Given the description of an element on the screen output the (x, y) to click on. 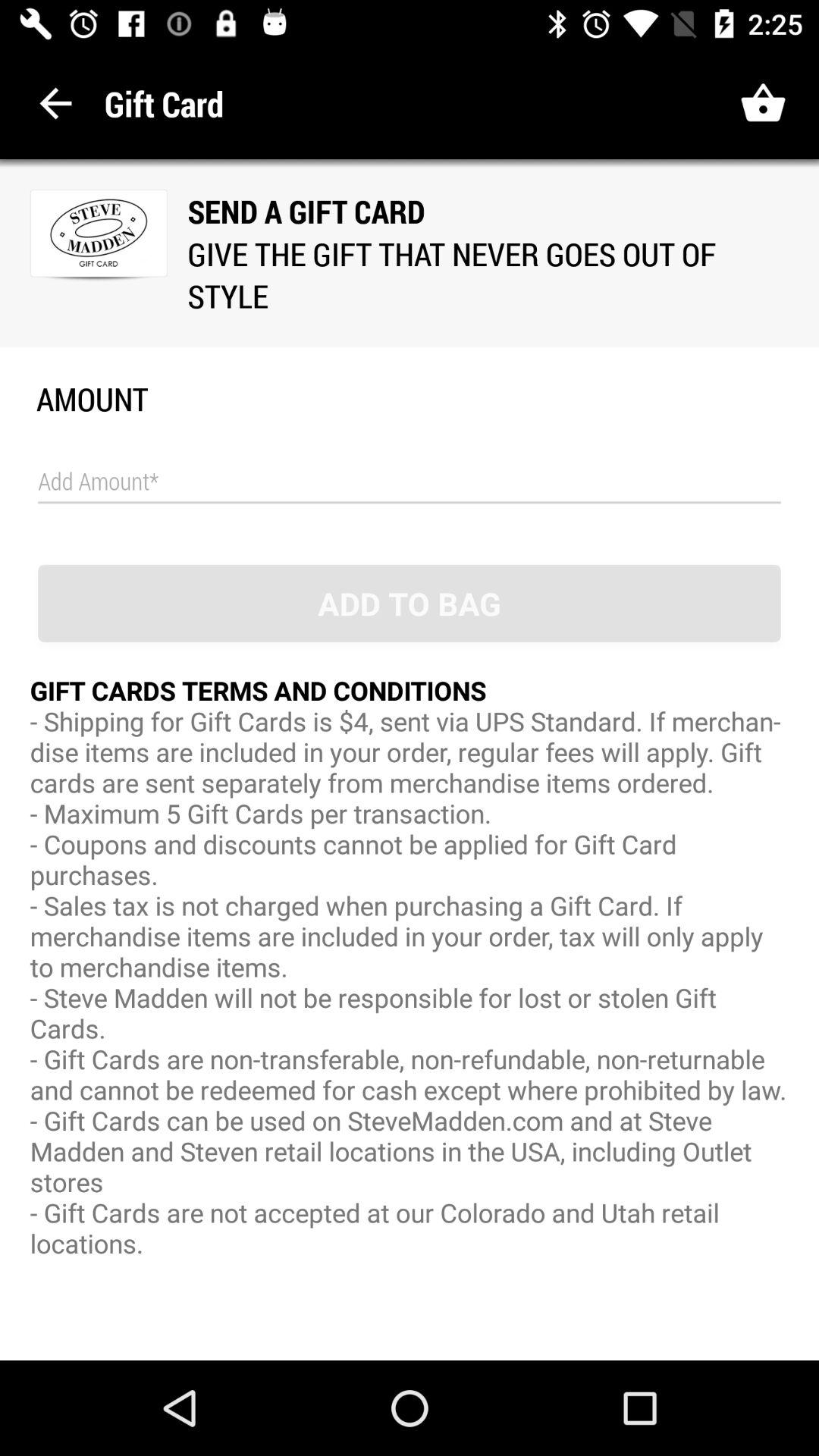
launch the item above the add to bag icon (409, 482)
